Given the description of an element on the screen output the (x, y) to click on. 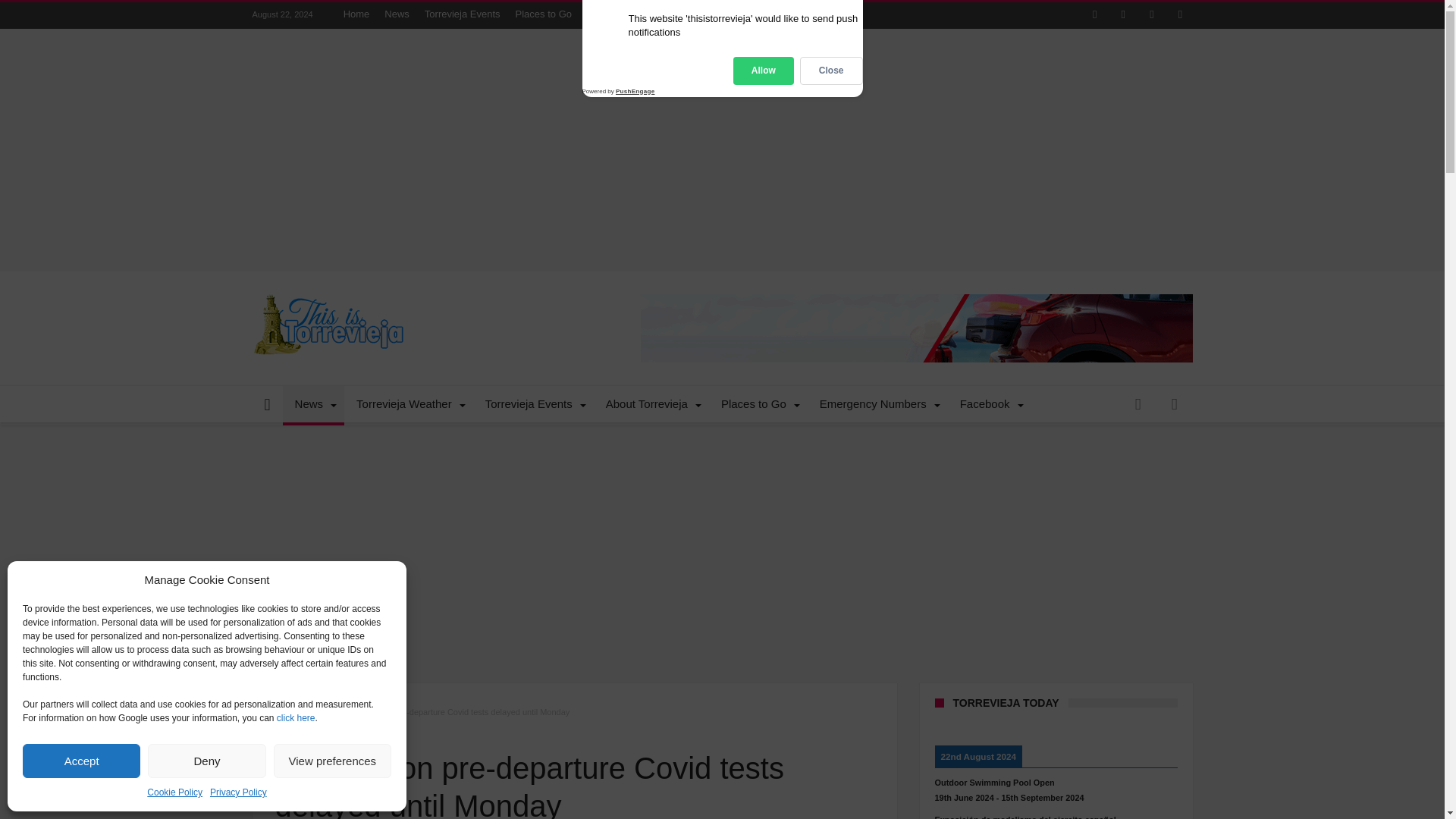
View preferences (332, 760)
Privacy Policy (237, 792)
click here (295, 717)
Cookie Policy (174, 792)
Deny (206, 760)
Accept (81, 760)
